Given the description of an element on the screen output the (x, y) to click on. 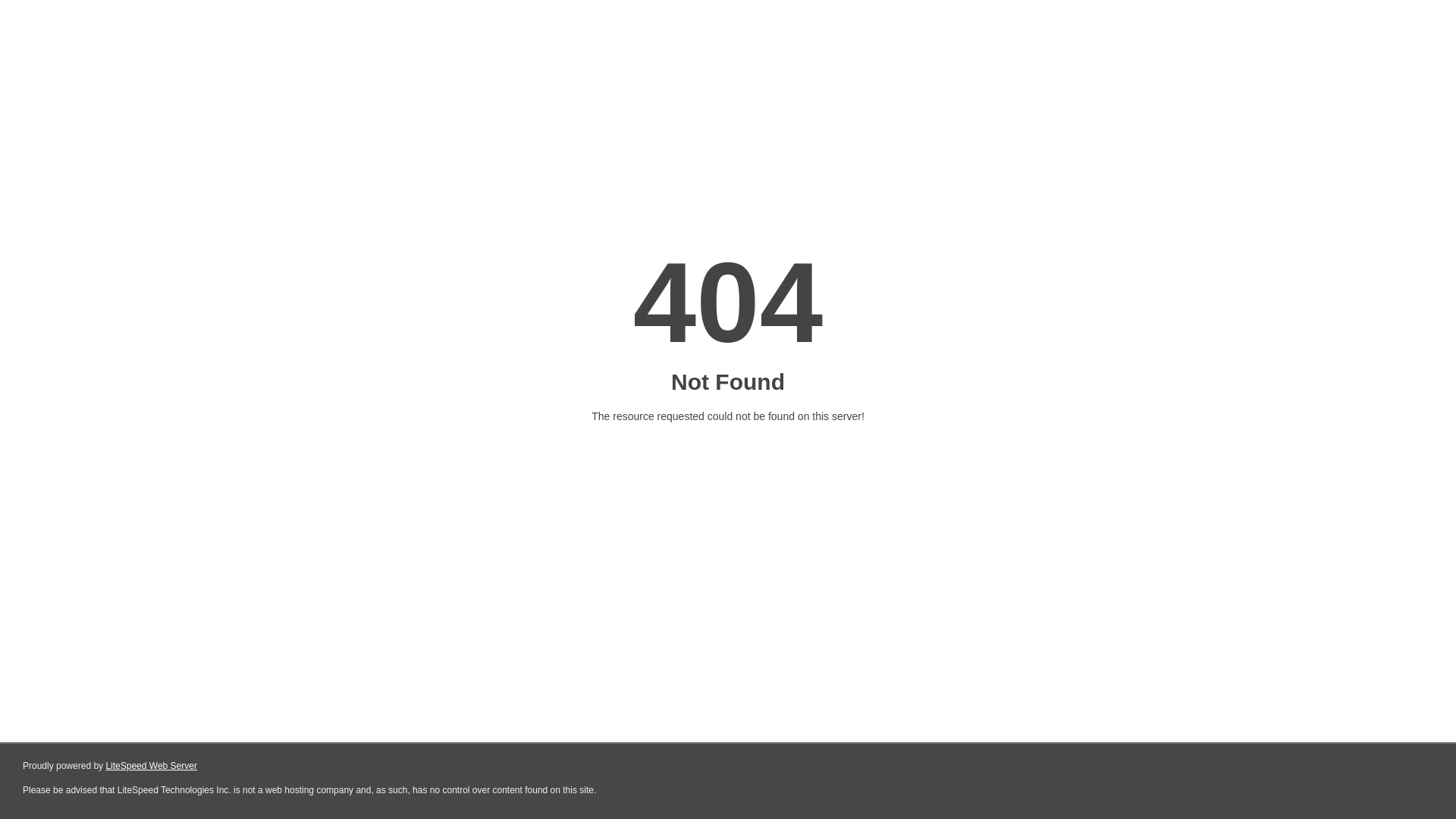
LiteSpeed Web Server Element type: text (151, 765)
